Given the description of an element on the screen output the (x, y) to click on. 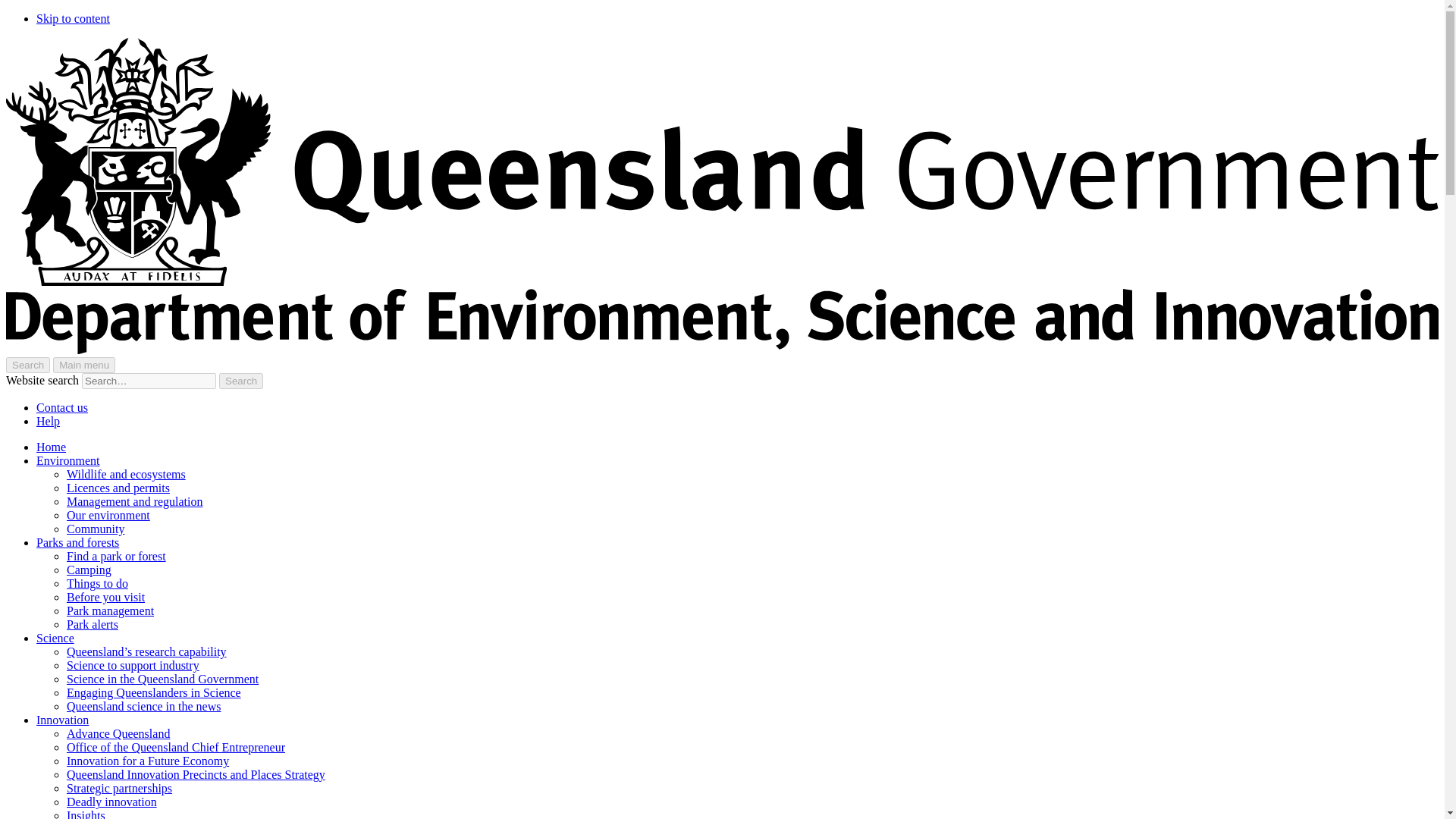
Park management (110, 610)
Science (55, 637)
Before you visit (105, 596)
Community (94, 528)
Park alerts (91, 624)
Queensland Innovation Precincts and Places Strategy (195, 774)
Advance Queensland (118, 733)
Our environment (107, 514)
Search (241, 381)
Main menu (83, 365)
